Given the description of an element on the screen output the (x, y) to click on. 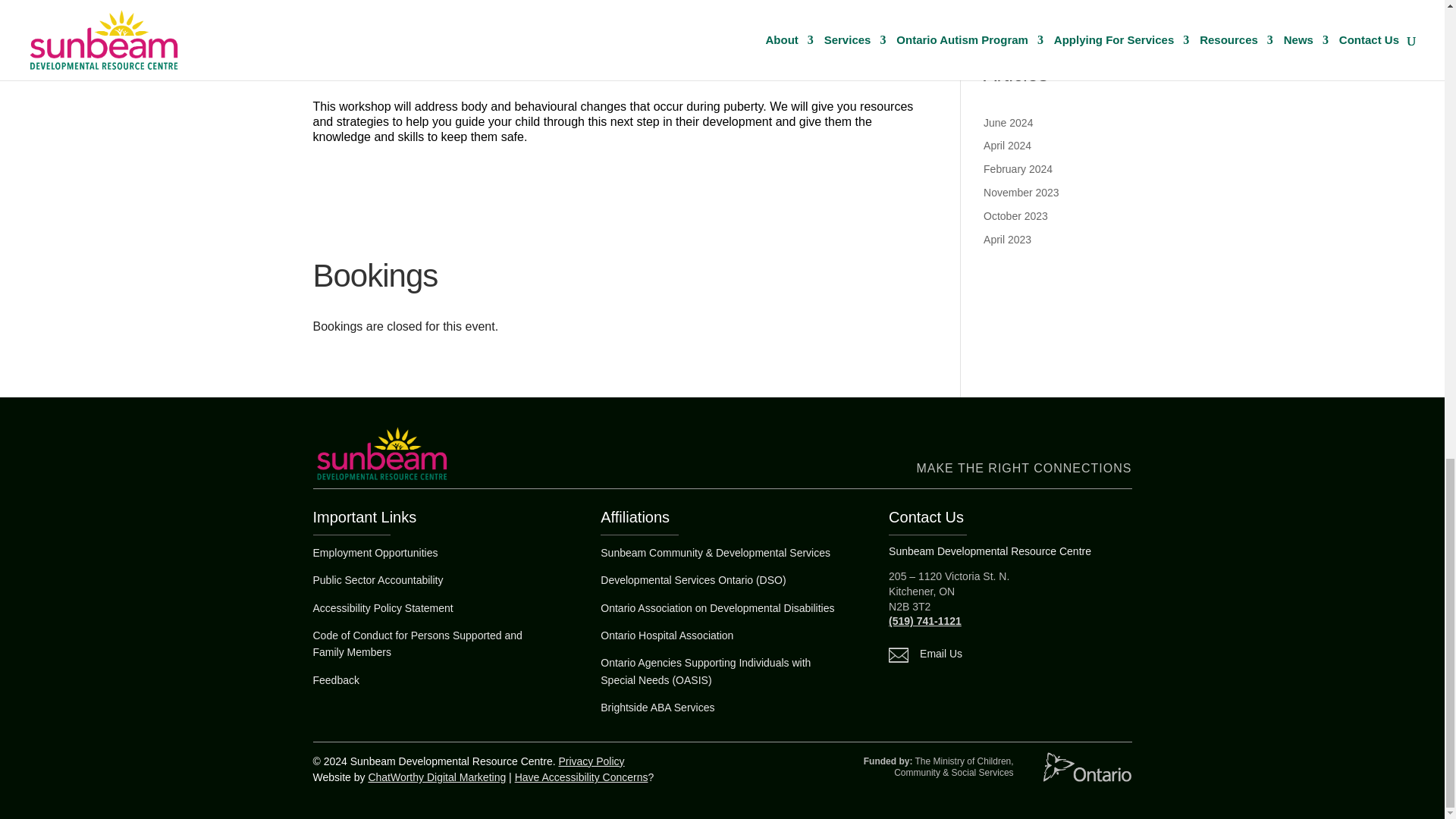
Send us your Feedback (335, 680)
Province of Ontario Logo (1087, 767)
Privacy Policy at SDRC (590, 761)
Accessibility Policy at SDRC (382, 607)
View our policy on Public Sector Accountability (377, 580)
Website designed by ChatWorthy Digital Marketing. (436, 776)
Employment Opportunities at SDRC (375, 552)
